Given the description of an element on the screen output the (x, y) to click on. 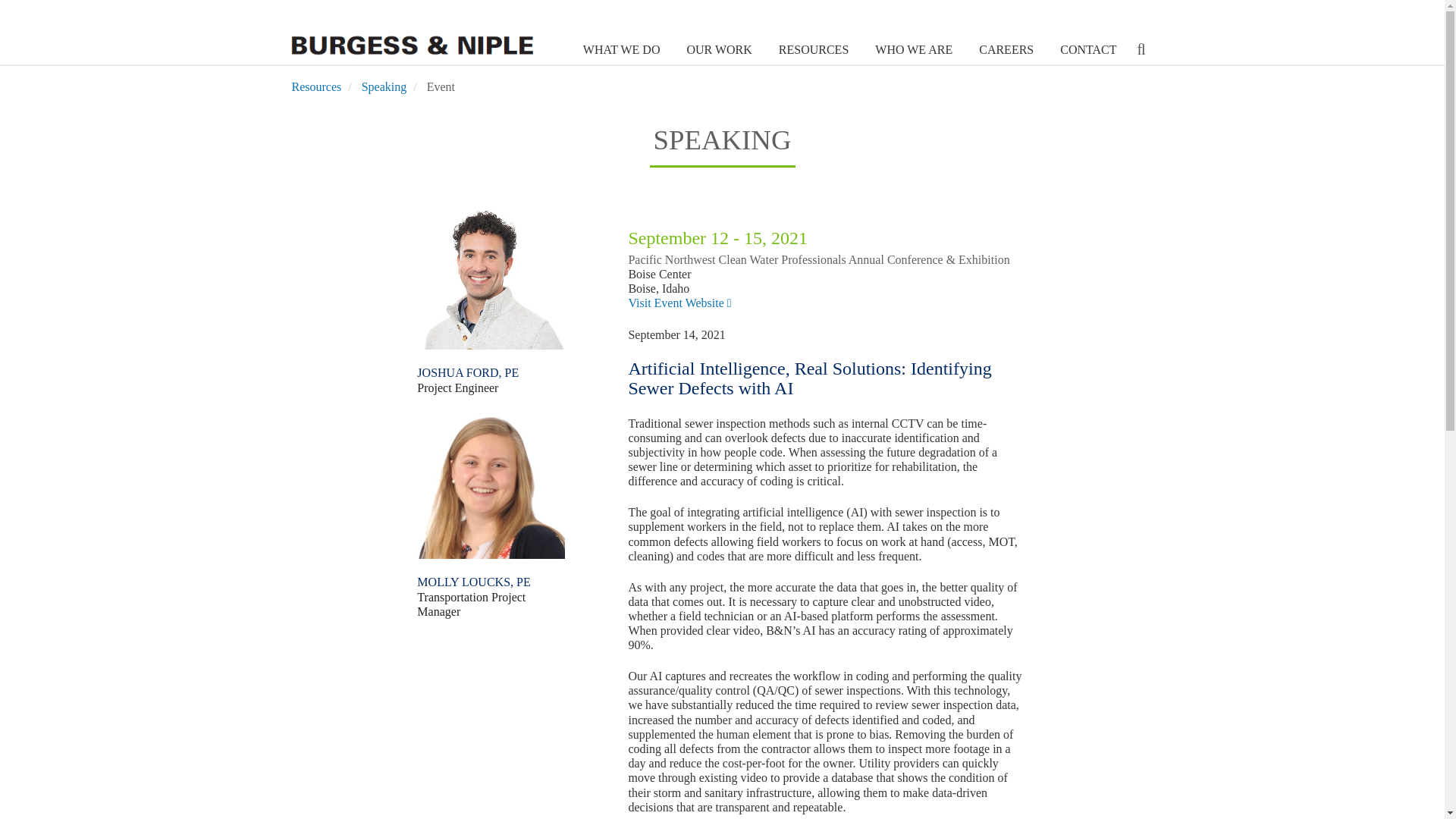
CONTACT (1085, 50)
Resources (315, 86)
CAREERS (1004, 50)
Speaking (384, 86)
RESOURCES (811, 50)
WHO WE ARE (911, 50)
Visit Event Website (678, 302)
